Given the description of an element on the screen output the (x, y) to click on. 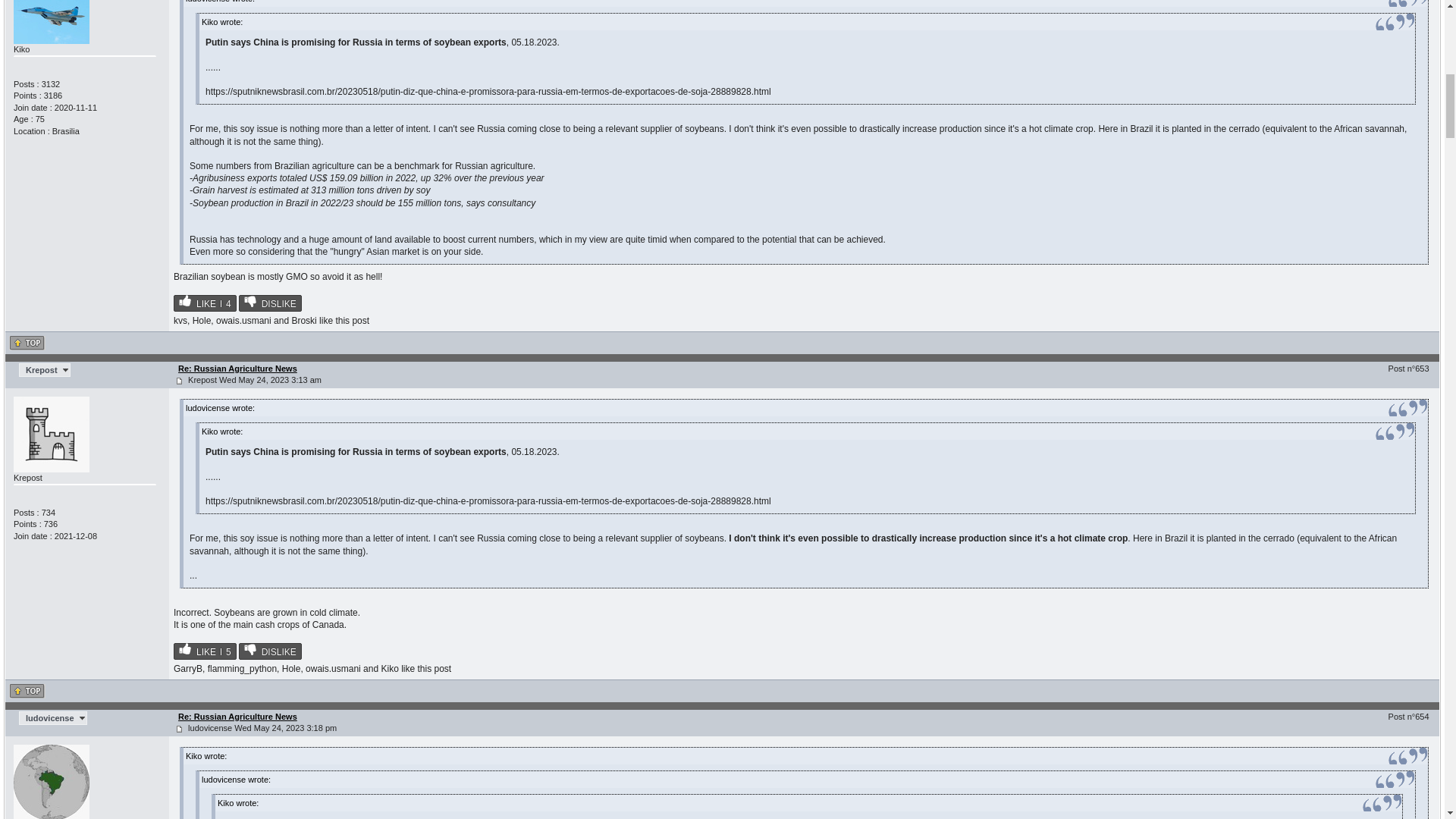
Post (178, 728)
LIKE5 (204, 651)
Re: Russian Agriculture News (237, 716)
ludovicense (52, 717)
DISLIKE (269, 651)
DISLIKE (269, 303)
Re: Russian Agriculture News (237, 368)
LIKE4 (204, 303)
Krepost (43, 369)
Post (178, 380)
